Given the description of an element on the screen output the (x, y) to click on. 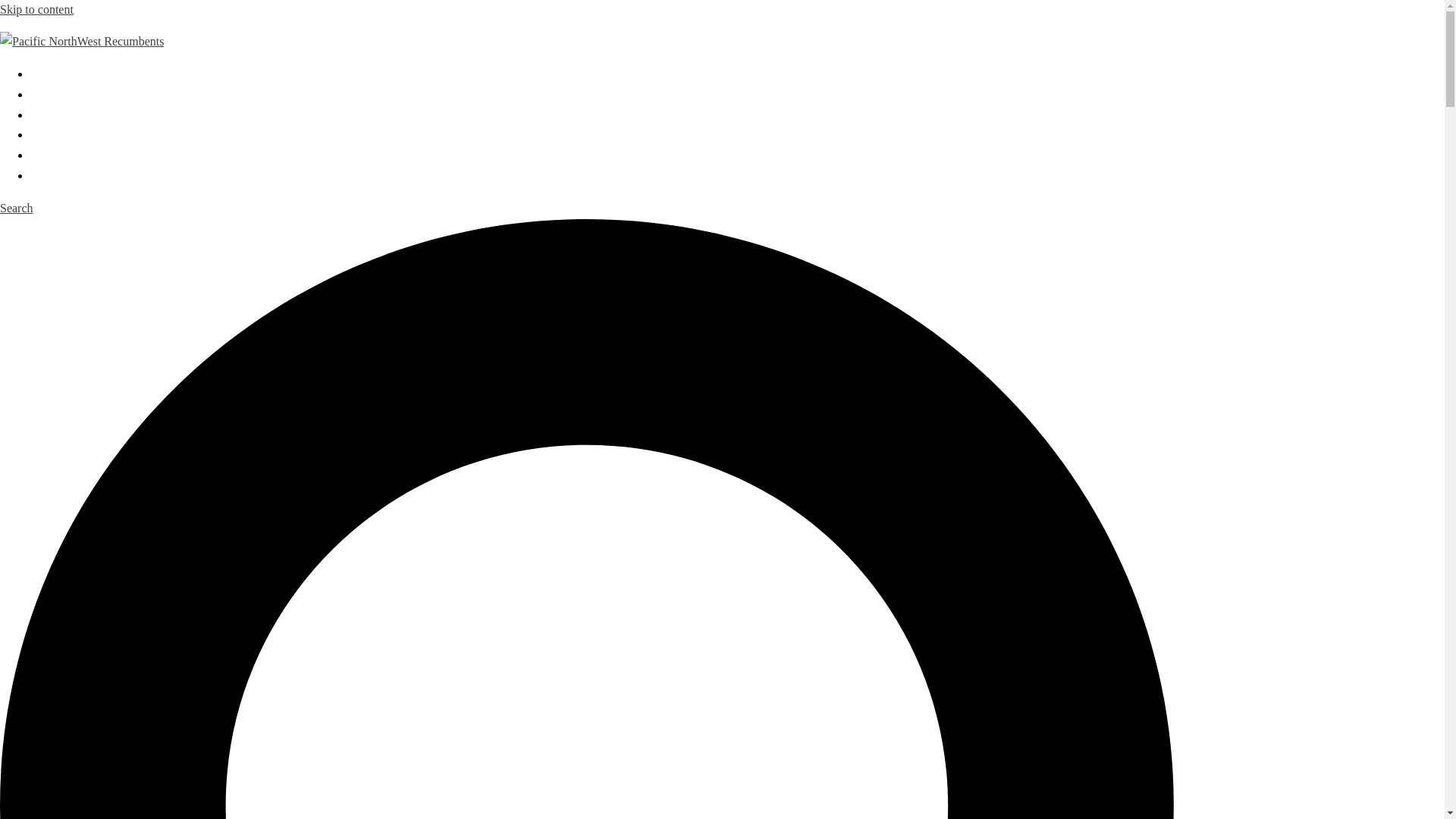
Recumbent Retreat (76, 113)
Club (41, 93)
Links to Other Sites (79, 154)
Photo Links (59, 133)
Home (44, 73)
Pacific NorthWest Recumbents (81, 41)
FAQ (41, 174)
Skip to content (37, 9)
